Given the description of an element on the screen output the (x, y) to click on. 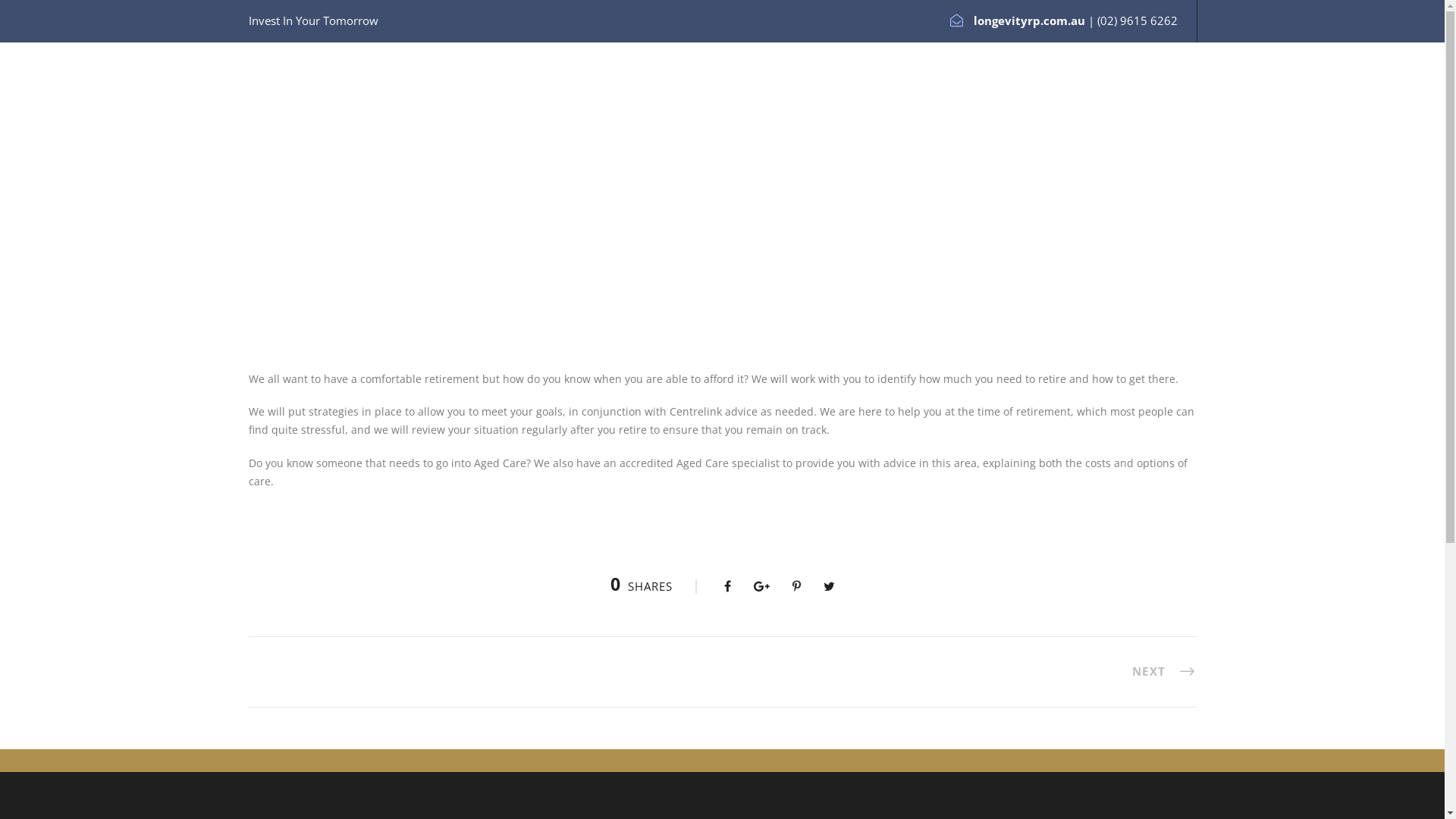
Contact Element type: text (662, 104)
NEXT Element type: text (1163, 671)
Testimonials Element type: text (967, 104)
Services + Element type: text (1054, 104)
About Us Element type: text (590, 104)
Planner Profiles + Element type: text (859, 104)
Header_Logo Element type: hover (285, 96)
Our Process + Element type: text (748, 104)
Home Element type: text (513, 104)
Our Support Element type: text (1141, 104)
